Given the description of an element on the screen output the (x, y) to click on. 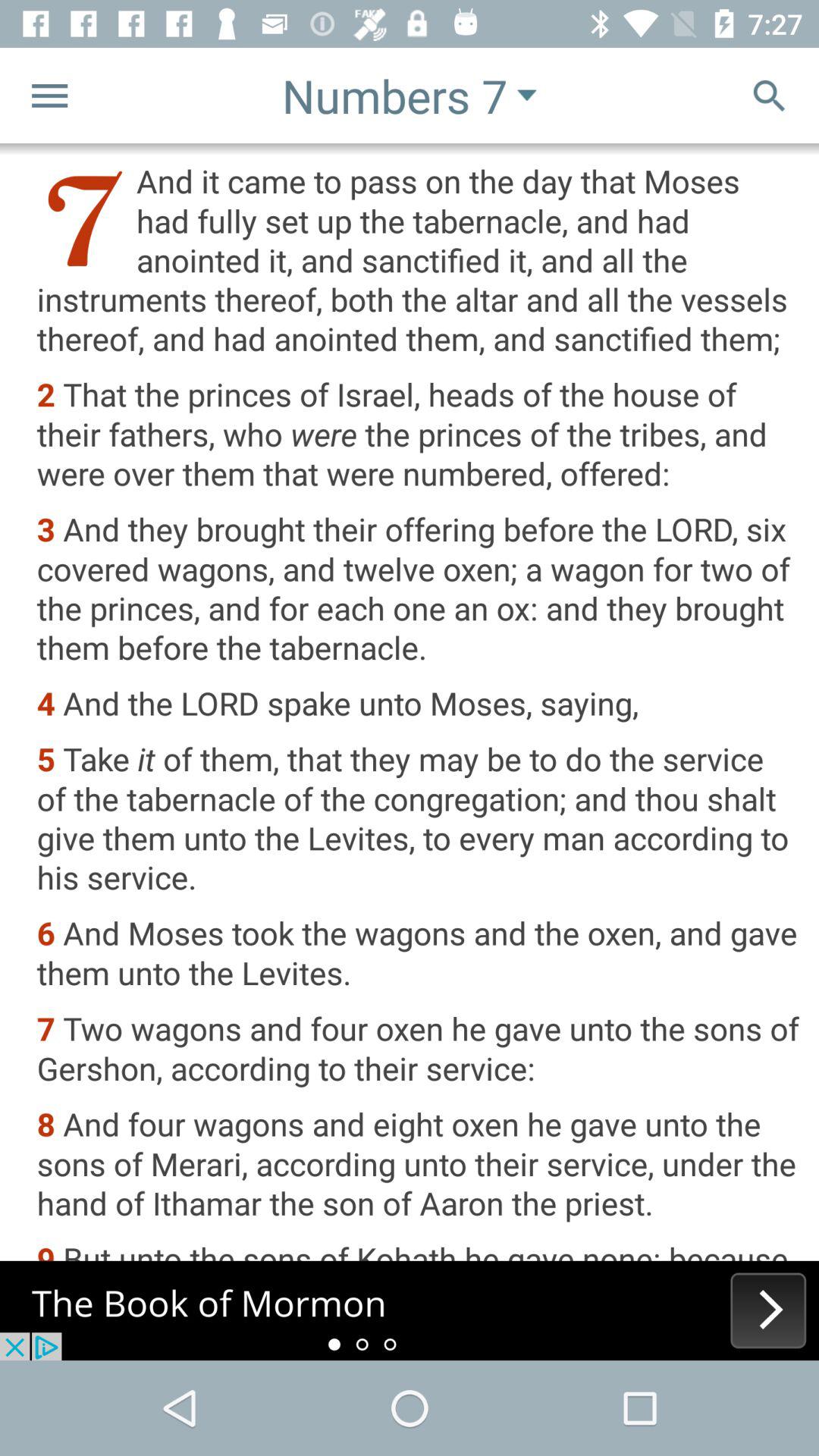
toggle a search bar (769, 95)
